Given the description of an element on the screen output the (x, y) to click on. 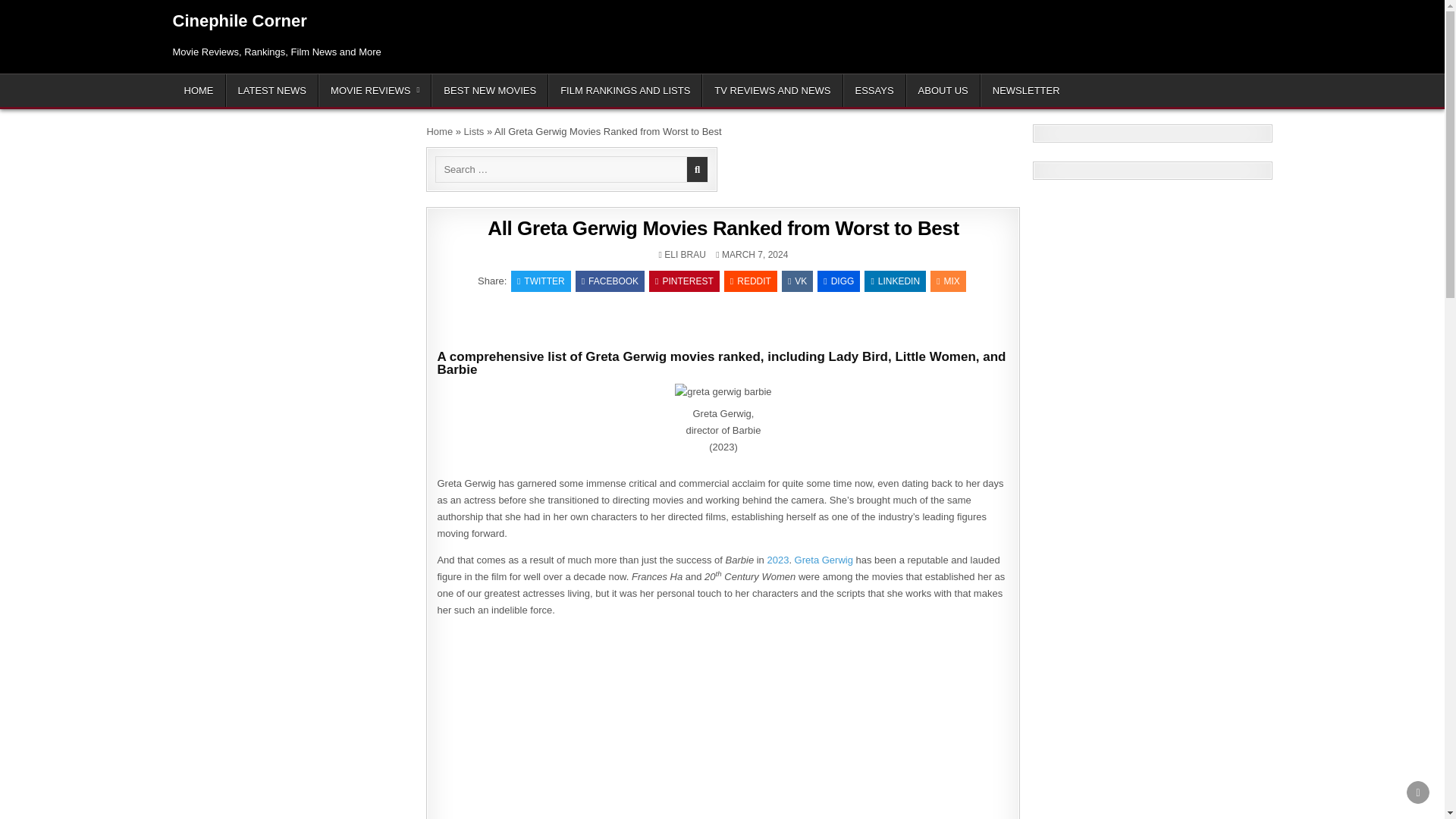
NEWSLETTER (1025, 90)
Share this on Reddit (750, 281)
2023 (778, 559)
ELI BRAU (684, 254)
ABOUT US (942, 90)
LATEST NEWS (271, 90)
MOVIE REVIEWS (374, 90)
FACEBOOK (610, 281)
TV REVIEWS AND NEWS (772, 90)
Home (439, 131)
